Given the description of an element on the screen output the (x, y) to click on. 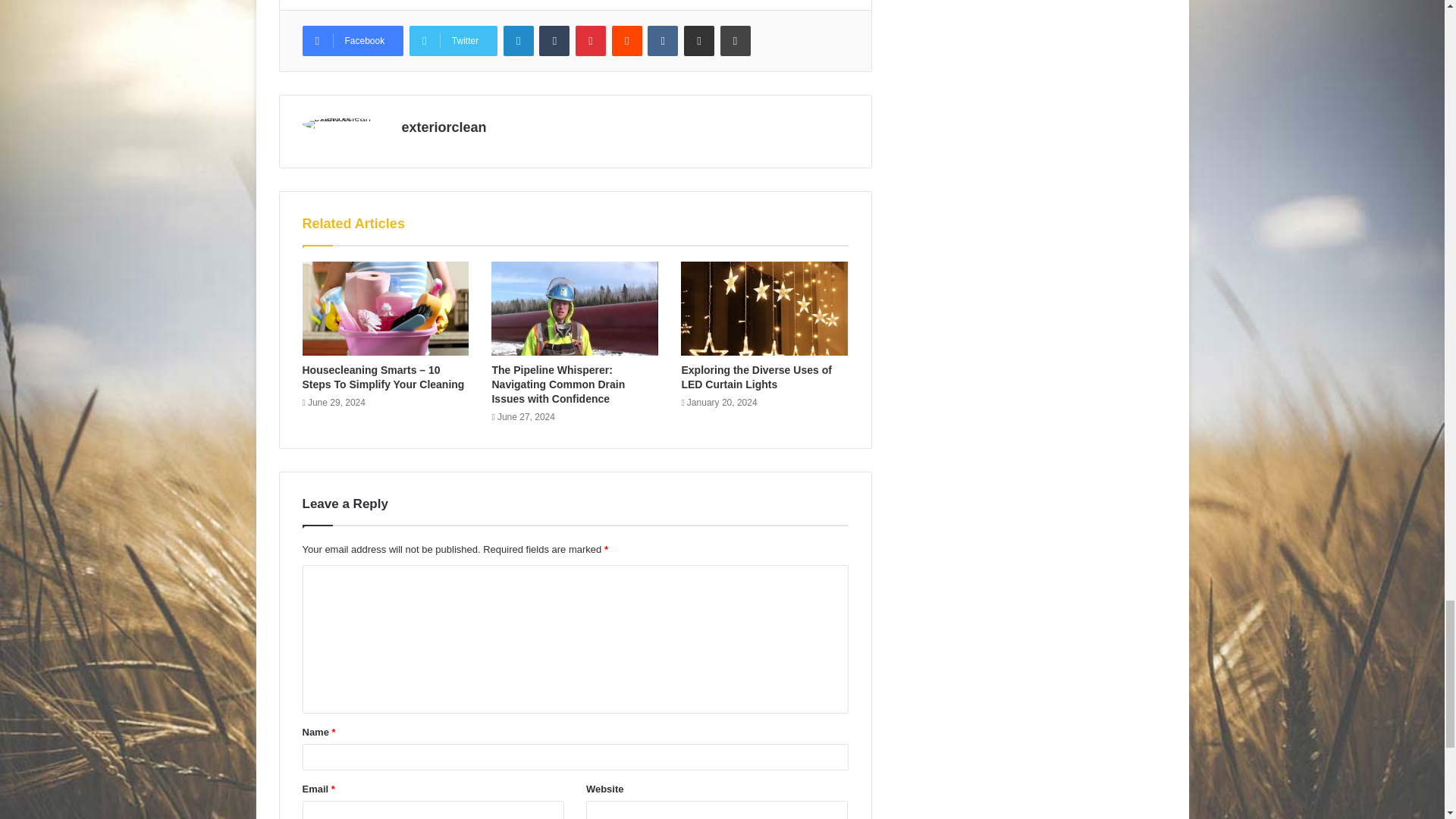
Print (735, 40)
Share via Email (699, 40)
Tumblr (553, 40)
Twitter (453, 40)
Tumblr (553, 40)
Reddit (626, 40)
LinkedIn (518, 40)
LinkedIn (518, 40)
VKontakte (662, 40)
Reddit (626, 40)
Facebook (352, 40)
Pinterest (590, 40)
Facebook (352, 40)
VKontakte (662, 40)
exteriorclean (443, 127)
